Given the description of an element on the screen output the (x, y) to click on. 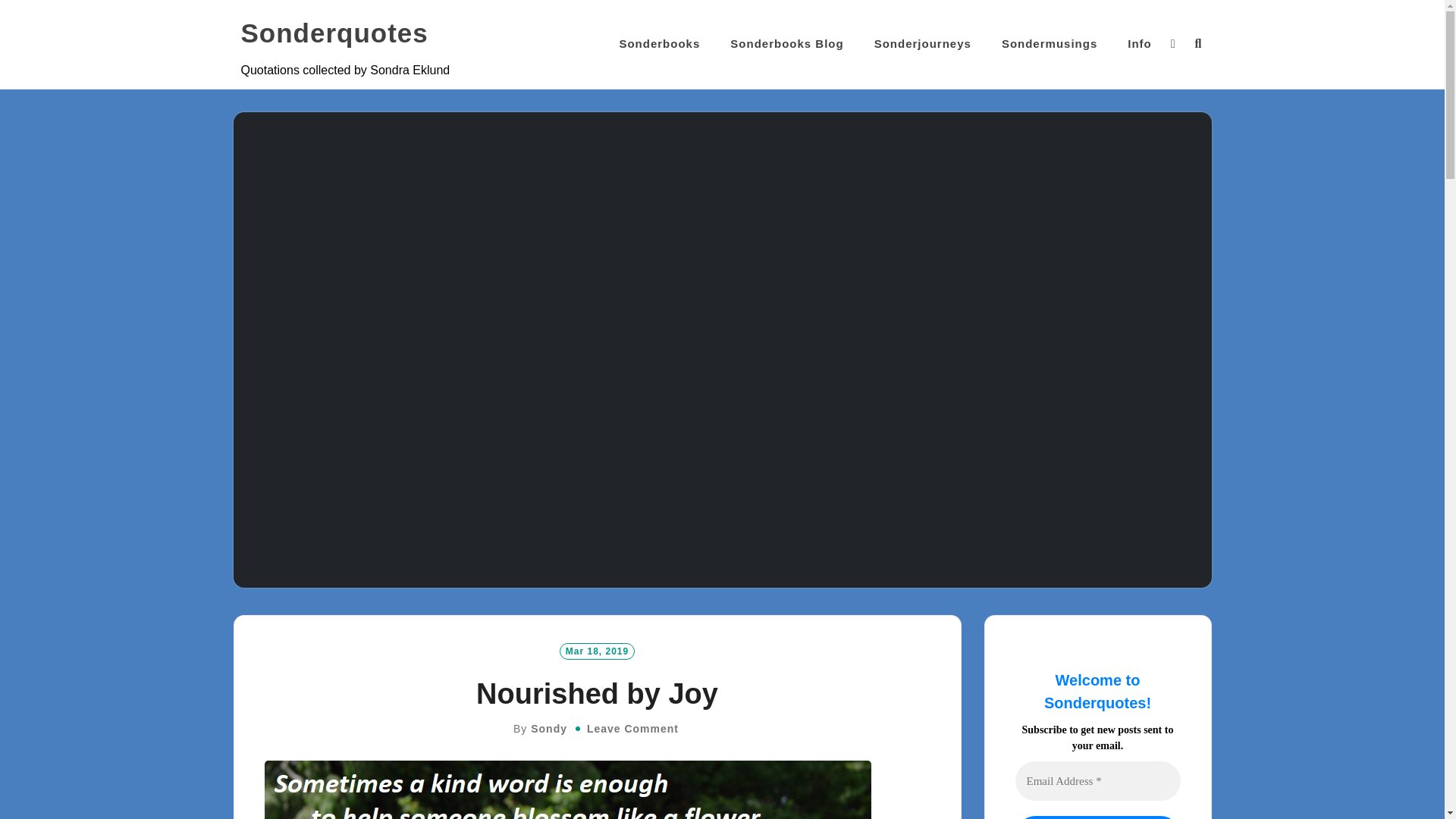
Email Address (1096, 781)
Leave Comment (632, 728)
Sondermusings (1049, 44)
Sonderjourneys (923, 44)
Sonderbooks Blog (786, 44)
Sonderbooks (659, 44)
Subscribe (1096, 817)
Mar 18, 2019 (596, 651)
Sondy (549, 728)
Sonderquotes (334, 33)
